Given the description of an element on the screen output the (x, y) to click on. 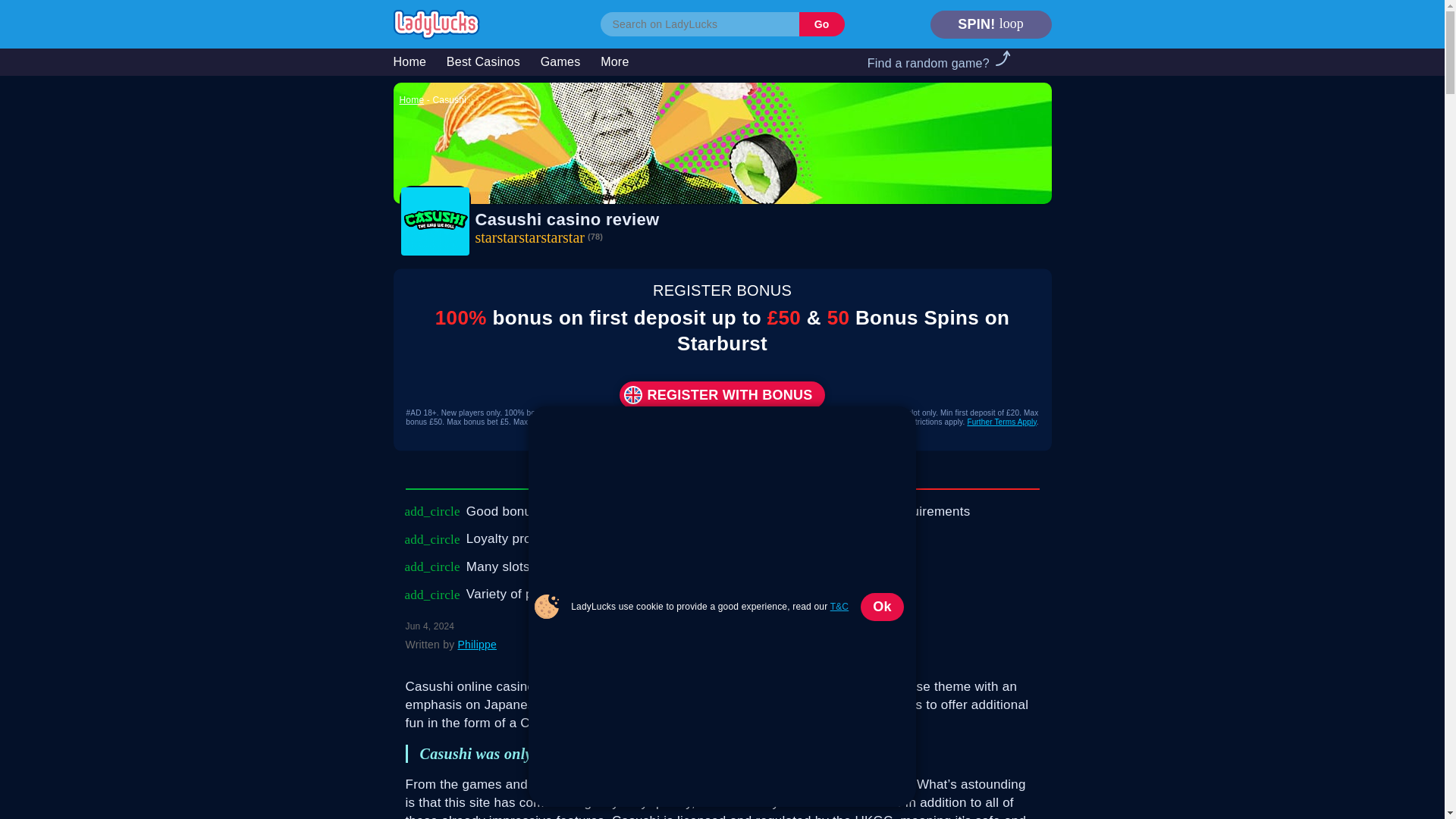
SPIN! loop (990, 24)
REGISTER WITH BONUS (722, 394)
Home page LadyLucks (436, 23)
Further Terms Apply (1000, 421)
Go (821, 24)
online casino site (698, 686)
Go (821, 24)
Home (410, 100)
Philippe (476, 644)
